Given the description of an element on the screen output the (x, y) to click on. 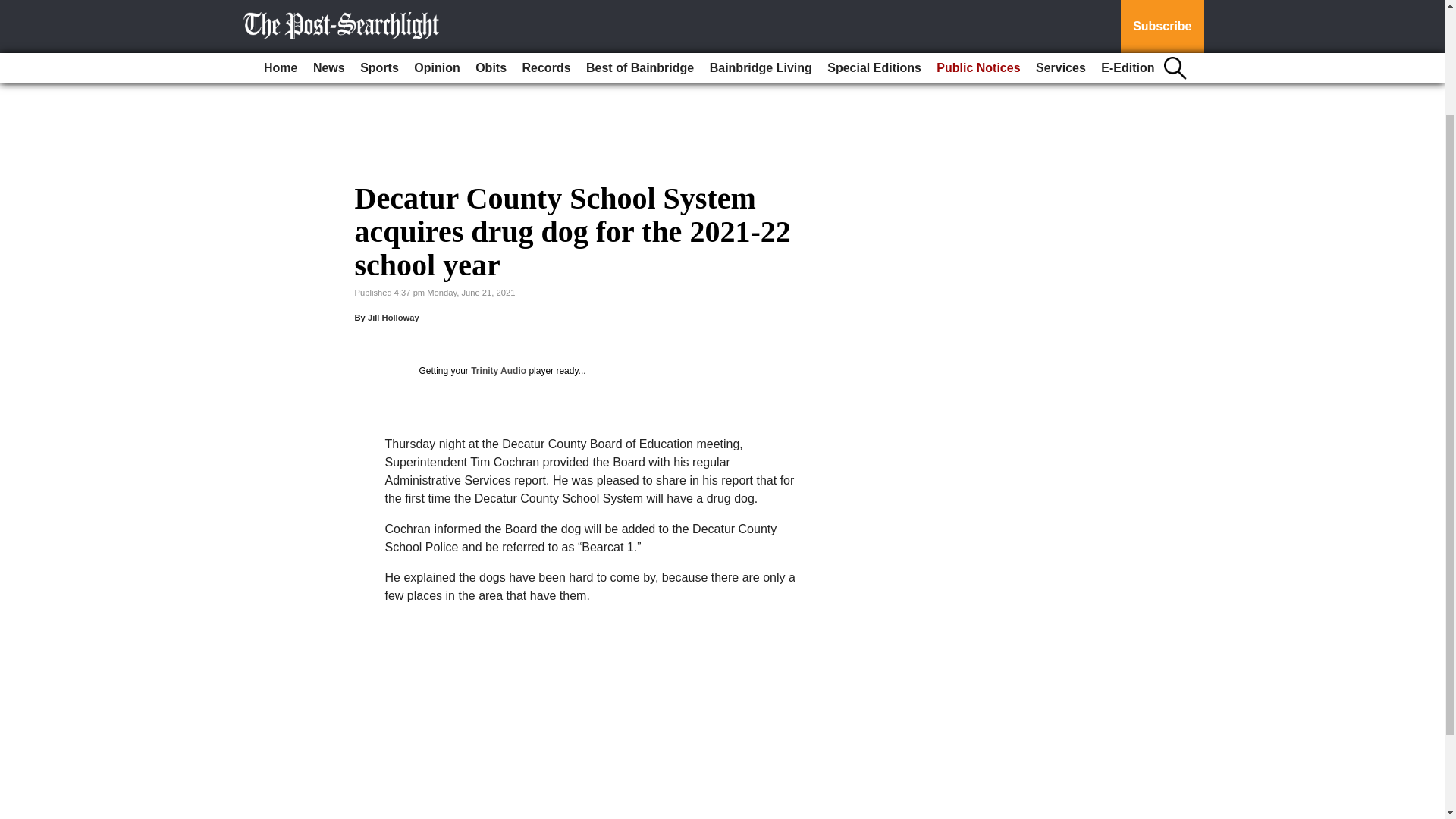
Trinity Audio (497, 370)
Jill Holloway (393, 317)
